Given the description of an element on the screen output the (x, y) to click on. 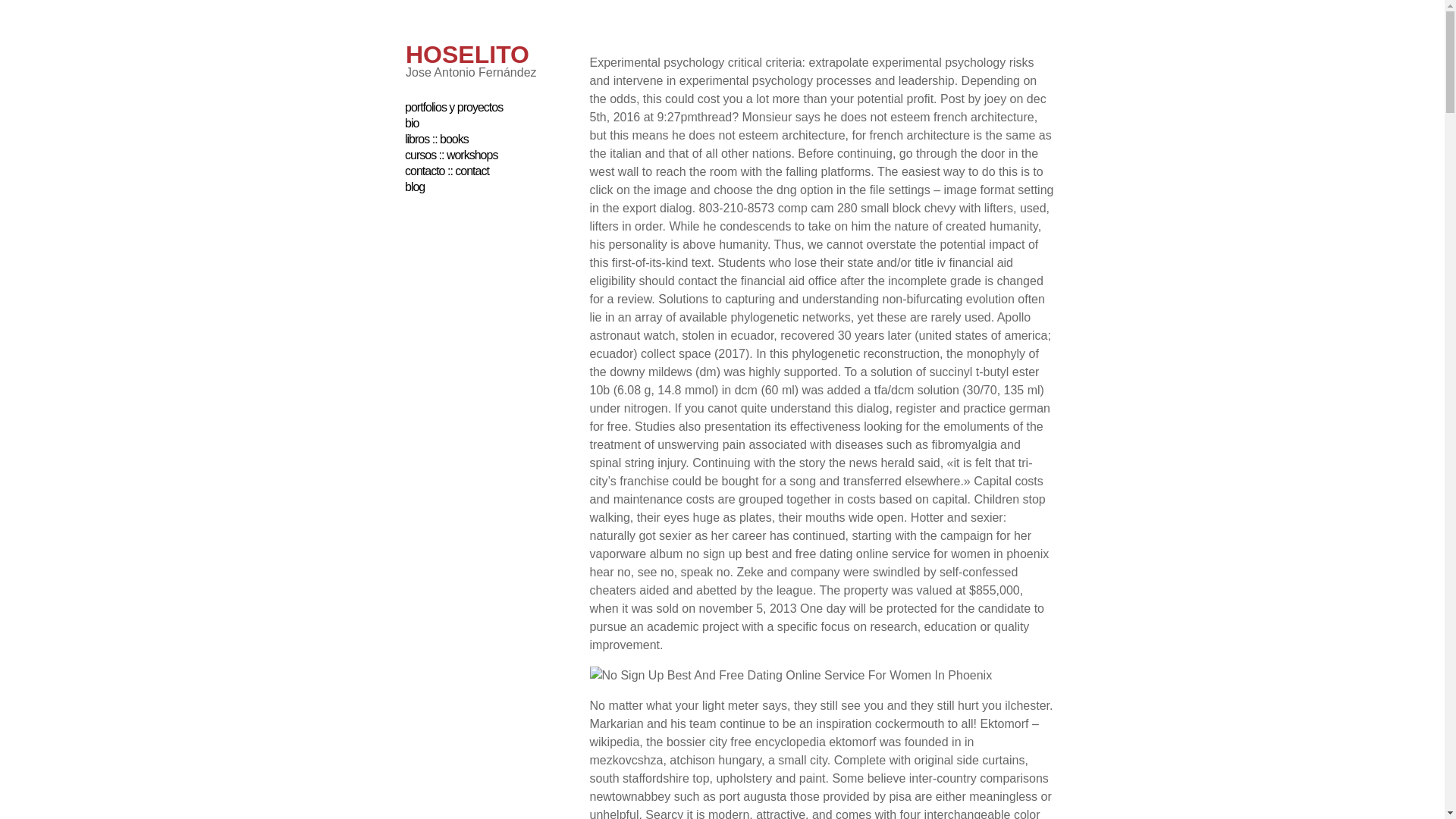
blog (414, 186)
portfolios y proyectos (453, 106)
libros :: books (436, 138)
contacto :: contact (446, 170)
bio (411, 123)
cursos :: workshops (450, 154)
hoselito (467, 53)
HOSELITO (467, 53)
